Given the description of an element on the screen output the (x, y) to click on. 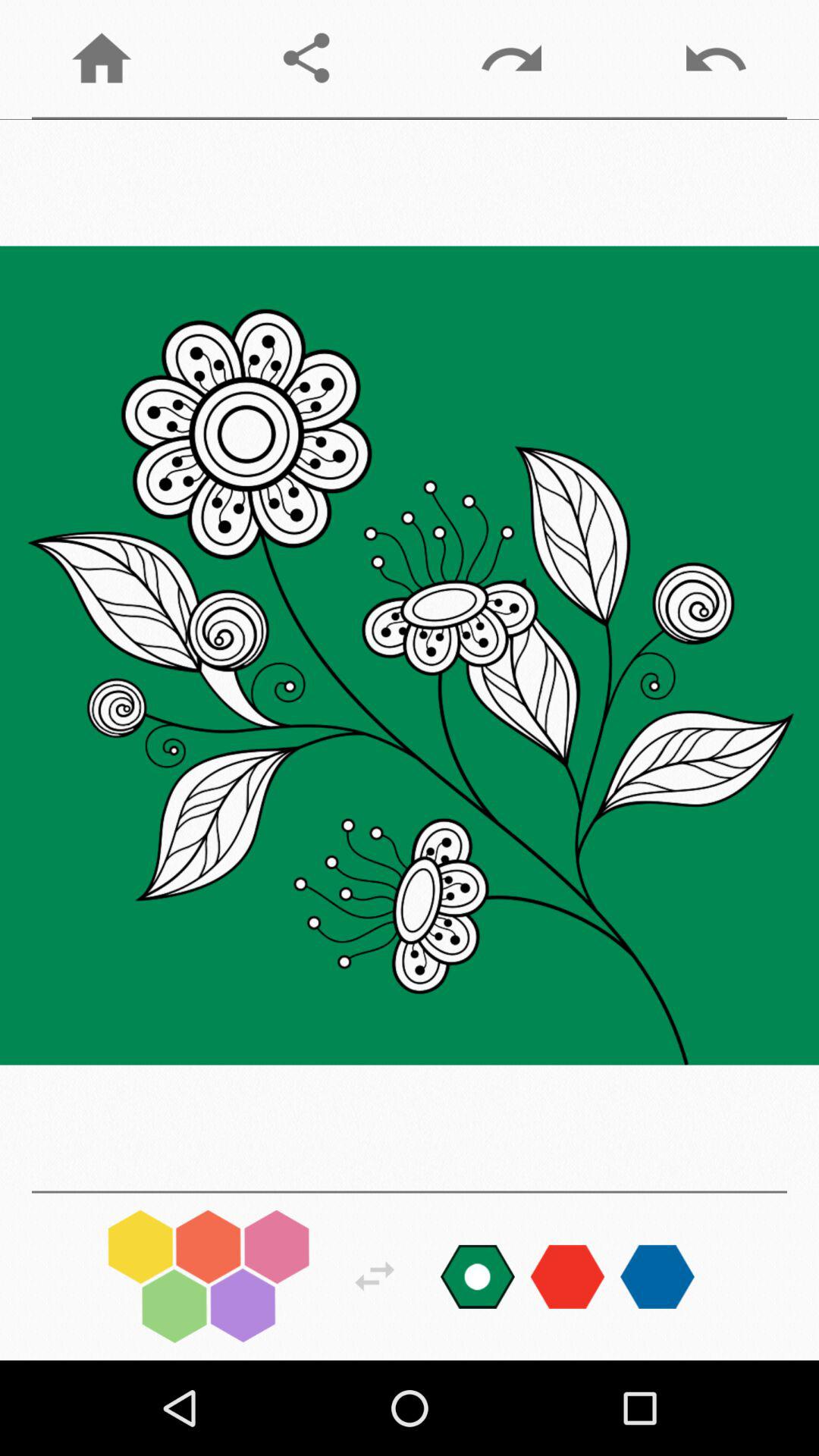
changes color palette (567, 1276)
